Given the description of an element on the screen output the (x, y) to click on. 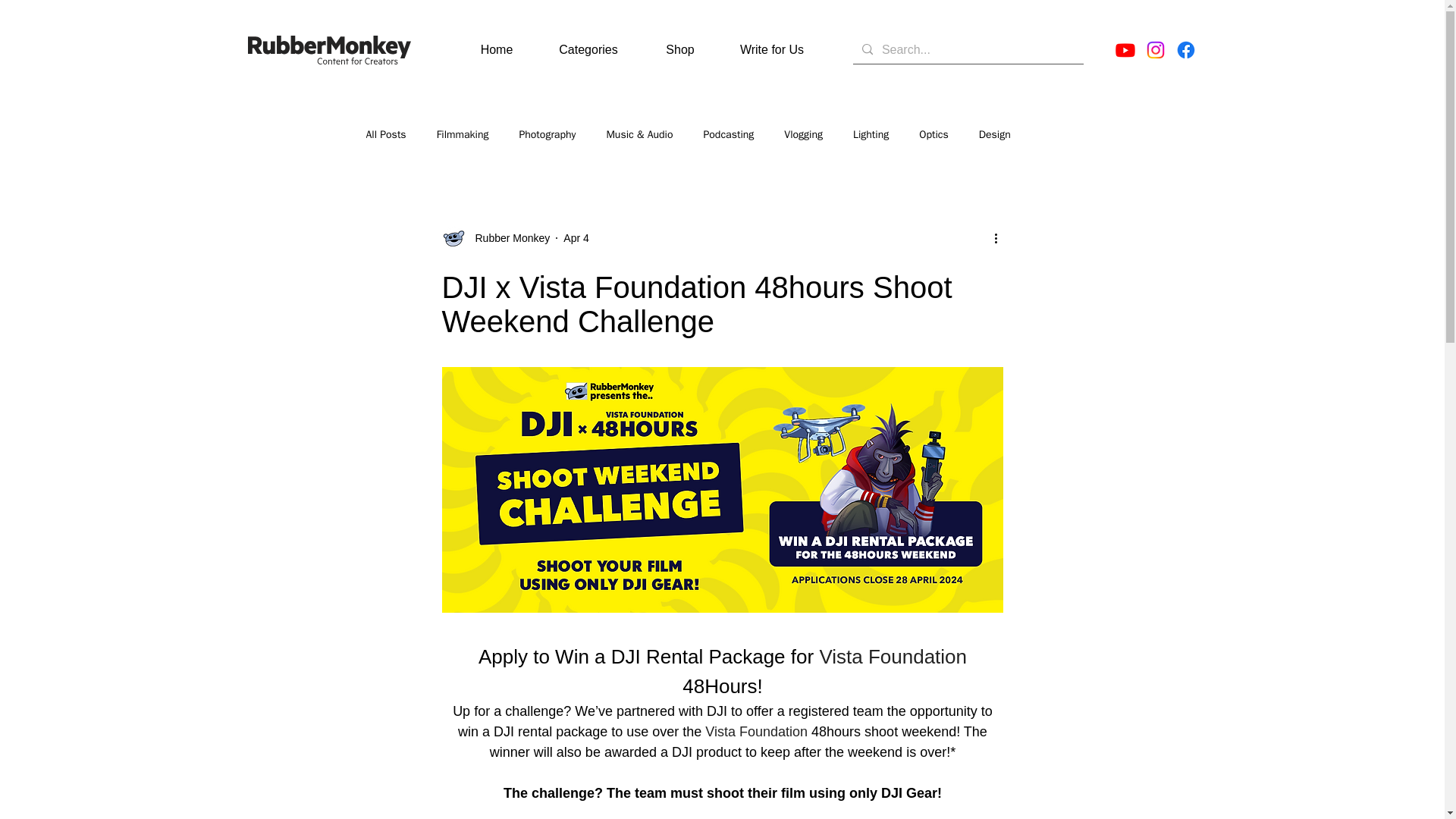
Lighting (870, 134)
Home (495, 50)
Photography (546, 134)
Shop (679, 50)
Podcasting (728, 134)
Rubber Monkey  (507, 238)
Write for Us (772, 50)
All Posts (385, 134)
Apr 4 (575, 237)
Categories (588, 50)
